Given the description of an element on the screen output the (x, y) to click on. 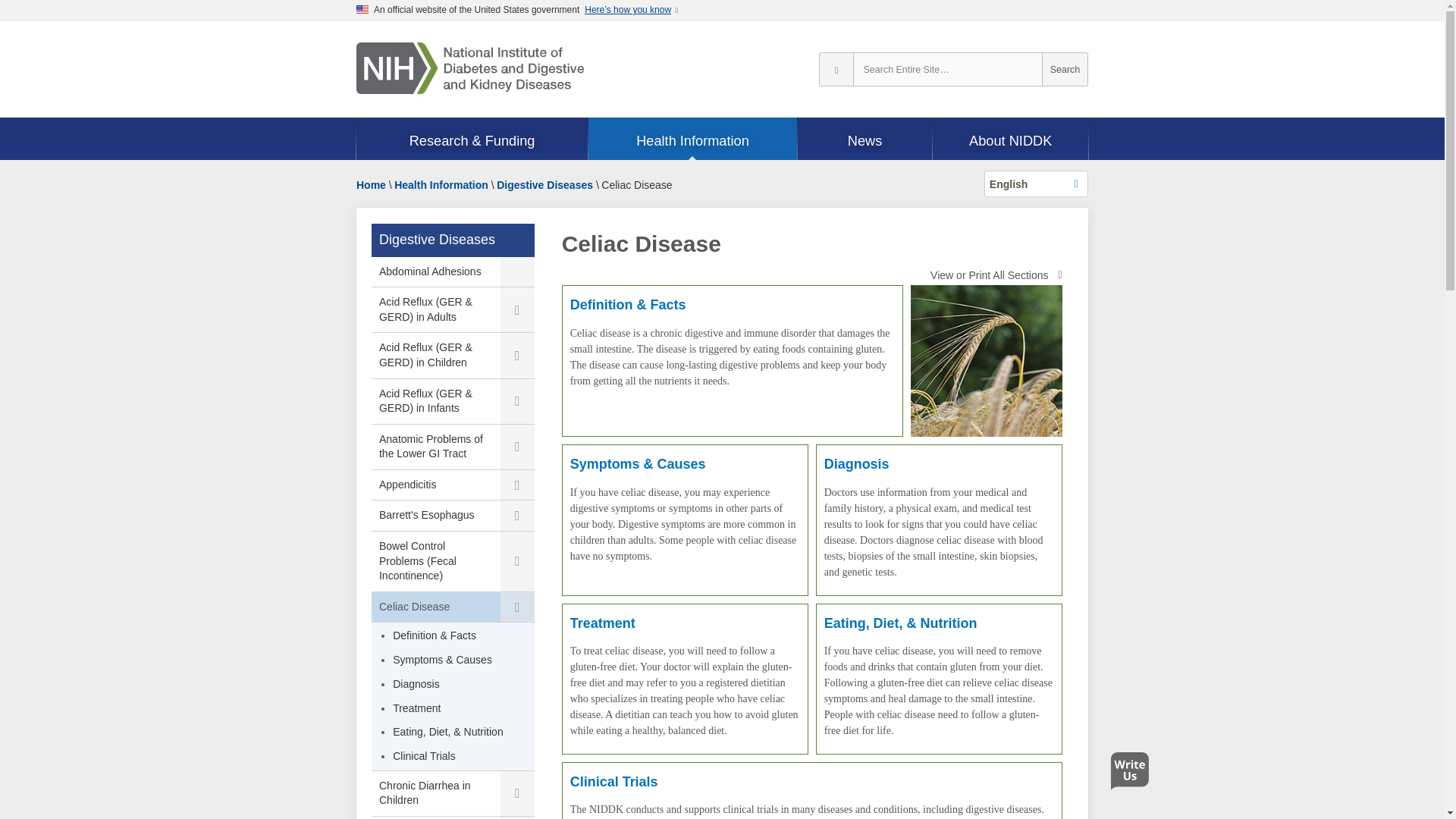
Hide child pages for "Celiac Disease" (517, 607)
Show child pages for "Barrett's Esophagus" (517, 515)
Health Information (692, 139)
Search (1064, 69)
Show child pages for "Colon Polyps" (517, 817)
Show child pages for "Chronic Diarrhea in Children" (517, 793)
News (865, 139)
Change search scope (835, 69)
Search Entire Site (1064, 69)
Skip to main content (7, 27)
Show alternate languages for this page (1035, 183)
Show child pages for "Appendicitis" (517, 485)
